Given the description of an element on the screen output the (x, y) to click on. 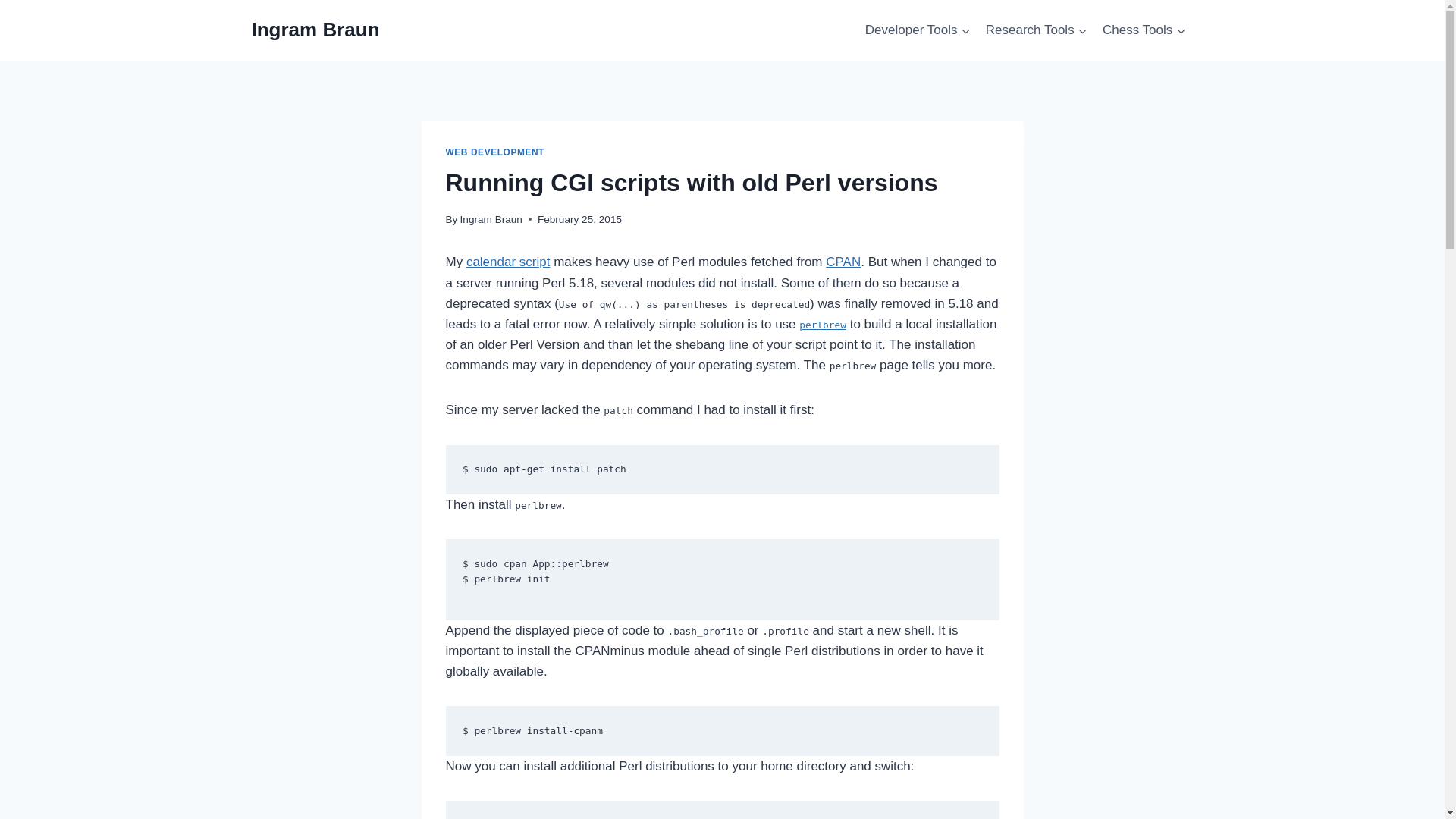
Ingram Braun (315, 29)
Research Tools (1036, 30)
Chess Tools (1143, 30)
Developer Tools (917, 30)
